Given the description of an element on the screen output the (x, y) to click on. 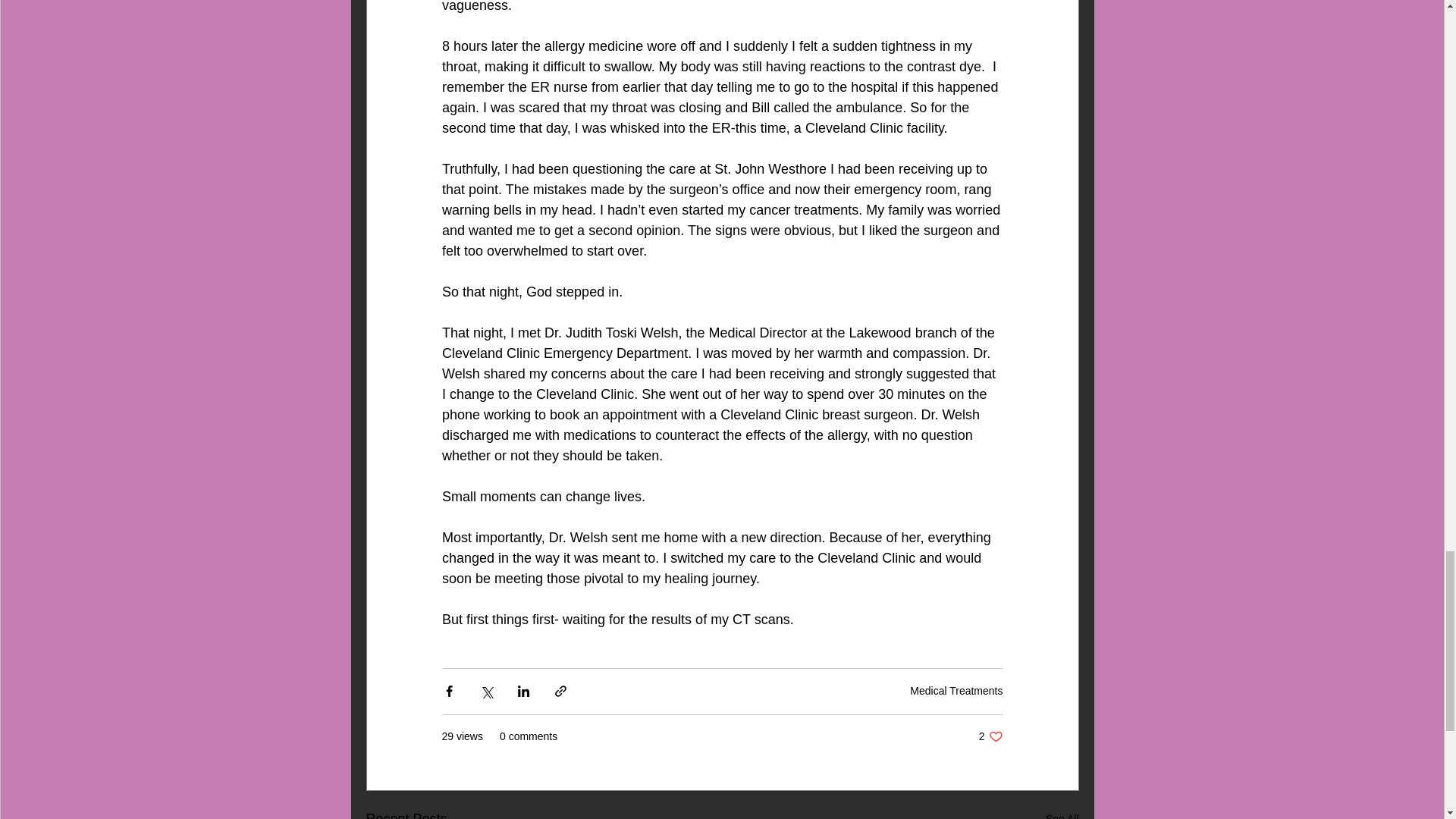
Medical Treatments (956, 690)
See All (1061, 813)
